Given the description of an element on the screen output the (x, y) to click on. 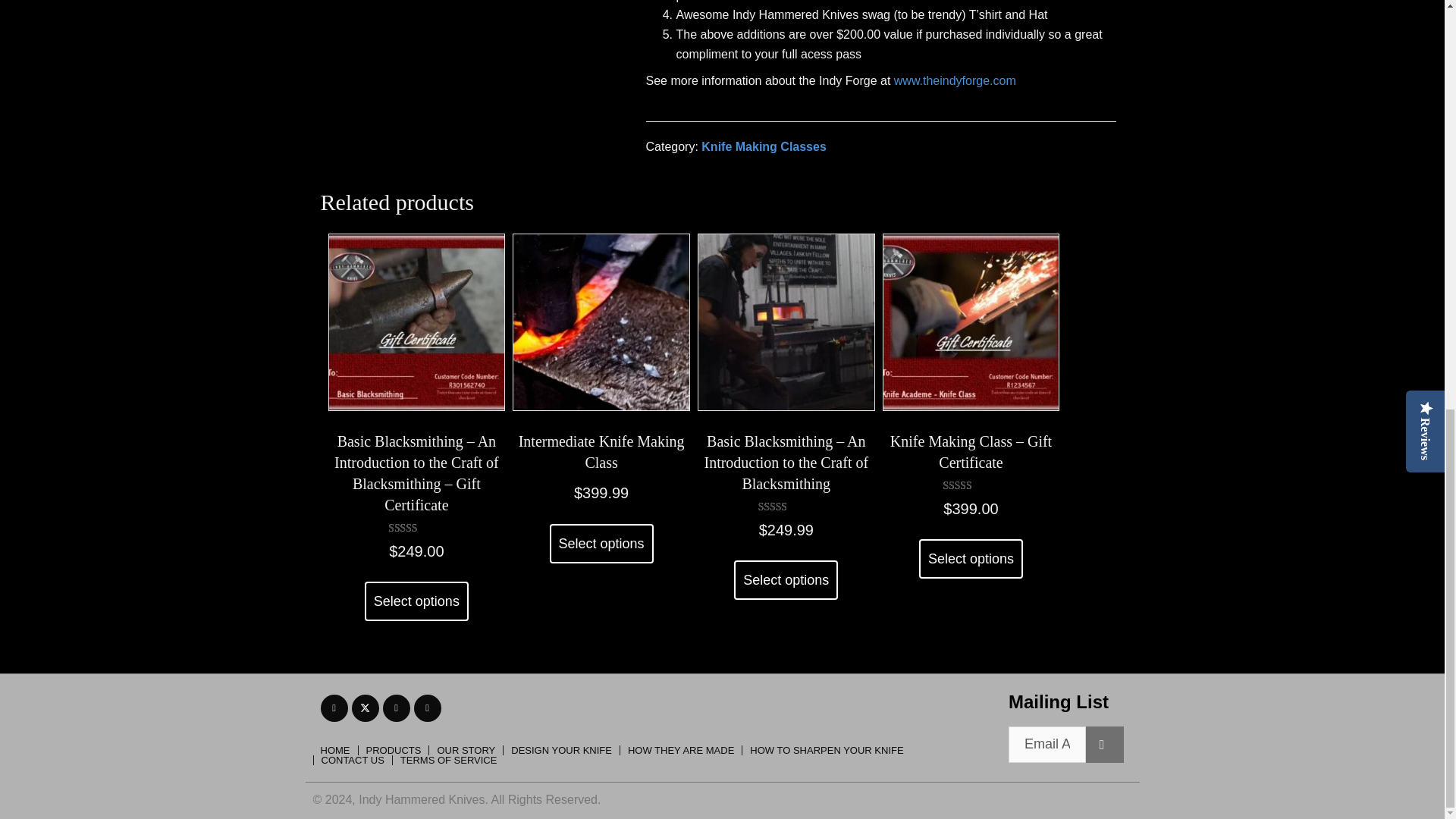
Instagram (395, 707)
Pintrest (427, 707)
Facebook (333, 707)
